Given the description of an element on the screen output the (x, y) to click on. 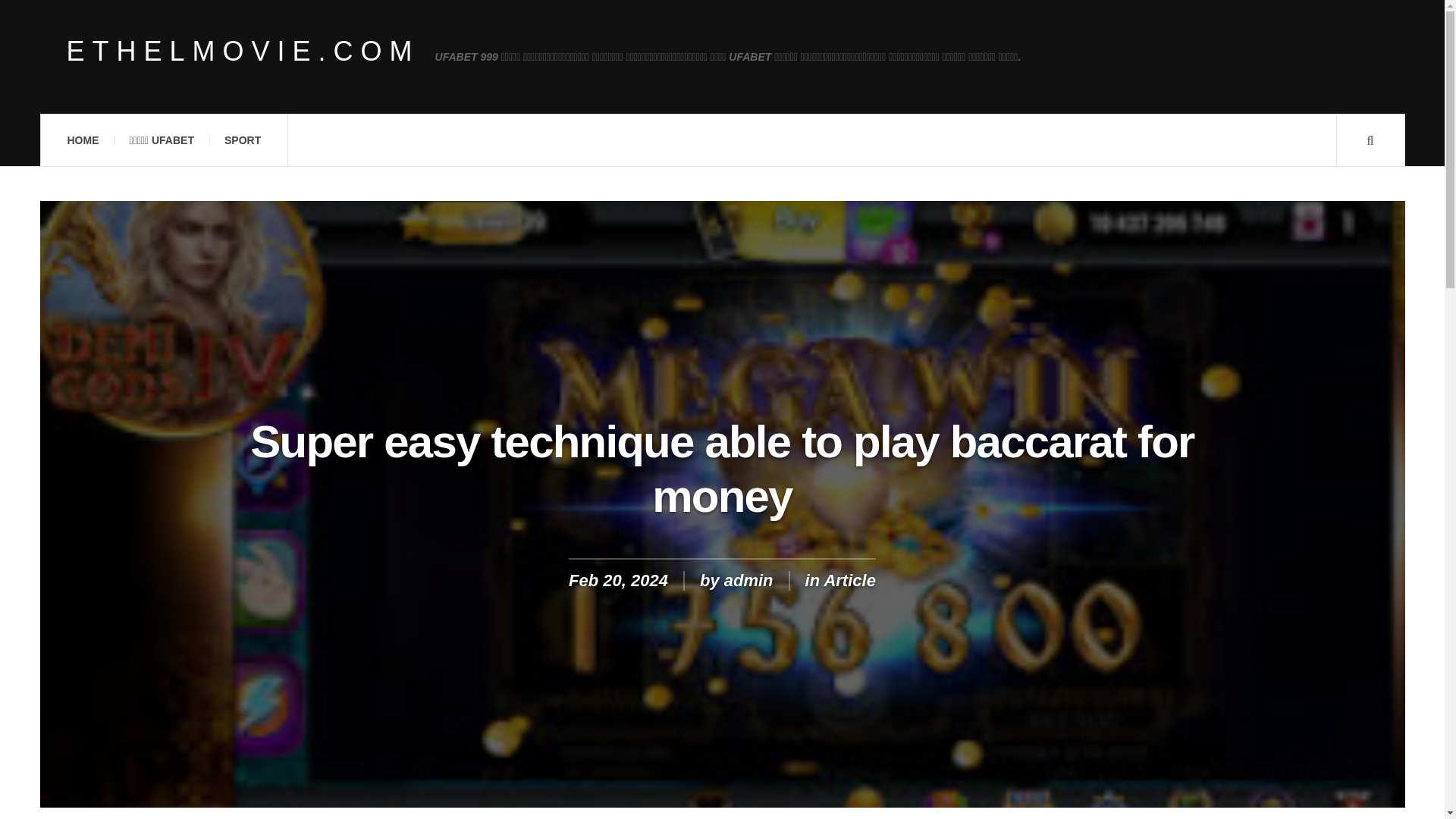
admin (748, 579)
ETHELMOVIE.COM (243, 51)
ethelmovie.com (243, 51)
SPORT (242, 140)
View all posts in Article (849, 579)
HOME (81, 140)
Article (849, 579)
